Given the description of an element on the screen output the (x, y) to click on. 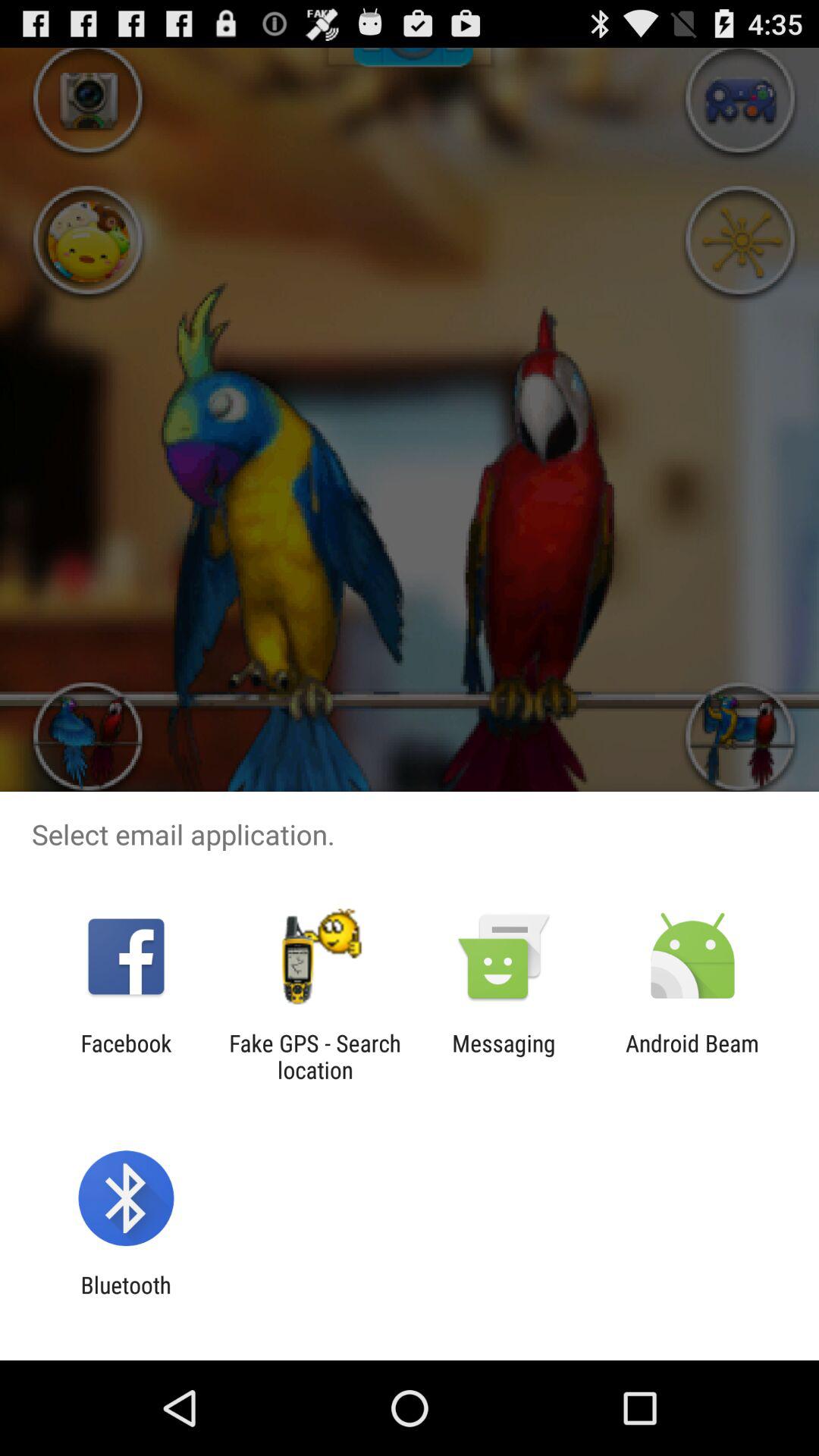
open the app at the bottom right corner (692, 1056)
